Given the description of an element on the screen output the (x, y) to click on. 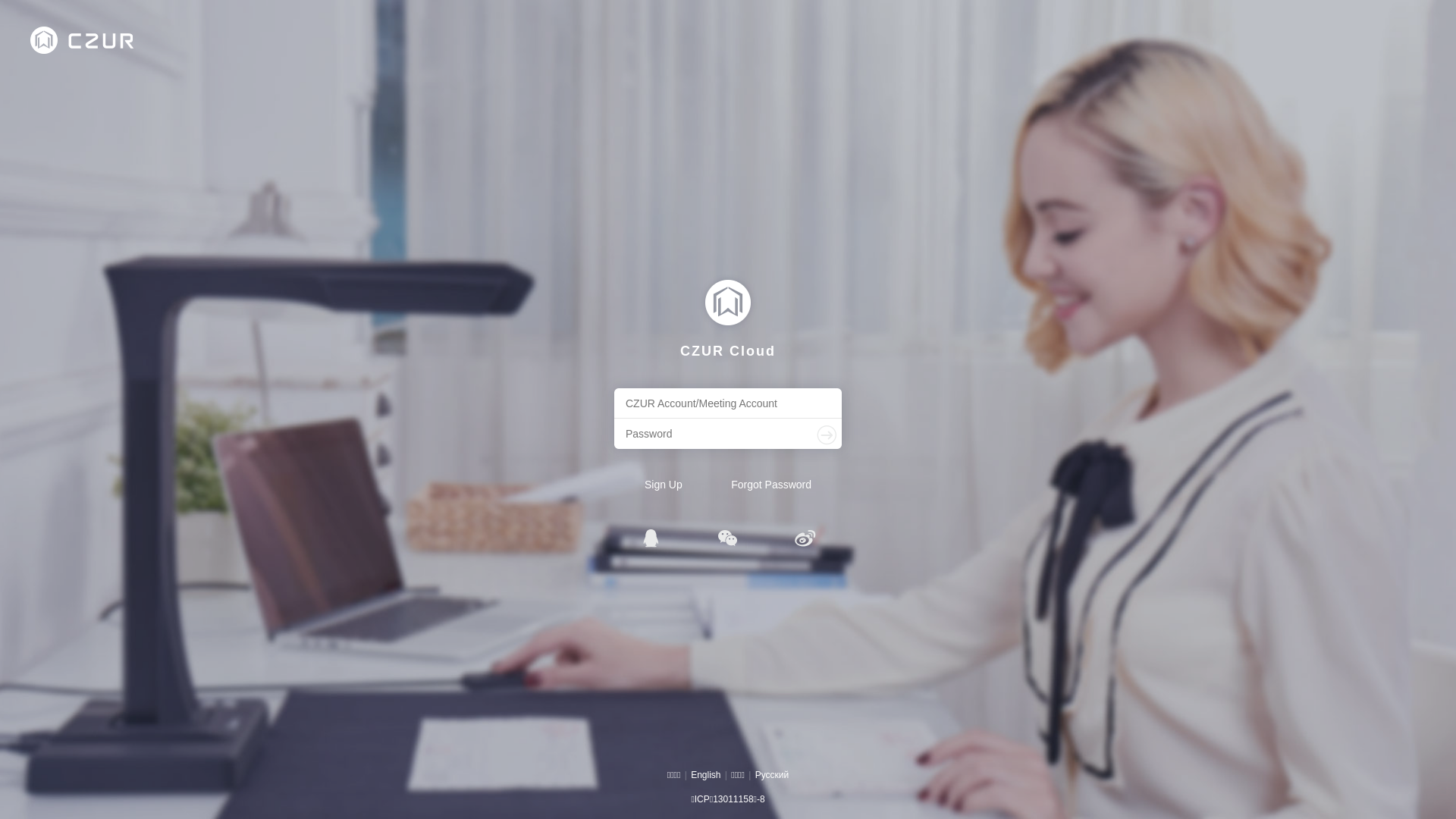
Forgot Password Element type: text (771, 484)
Sign Up Element type: text (663, 484)
